Given the description of an element on the screen output the (x, y) to click on. 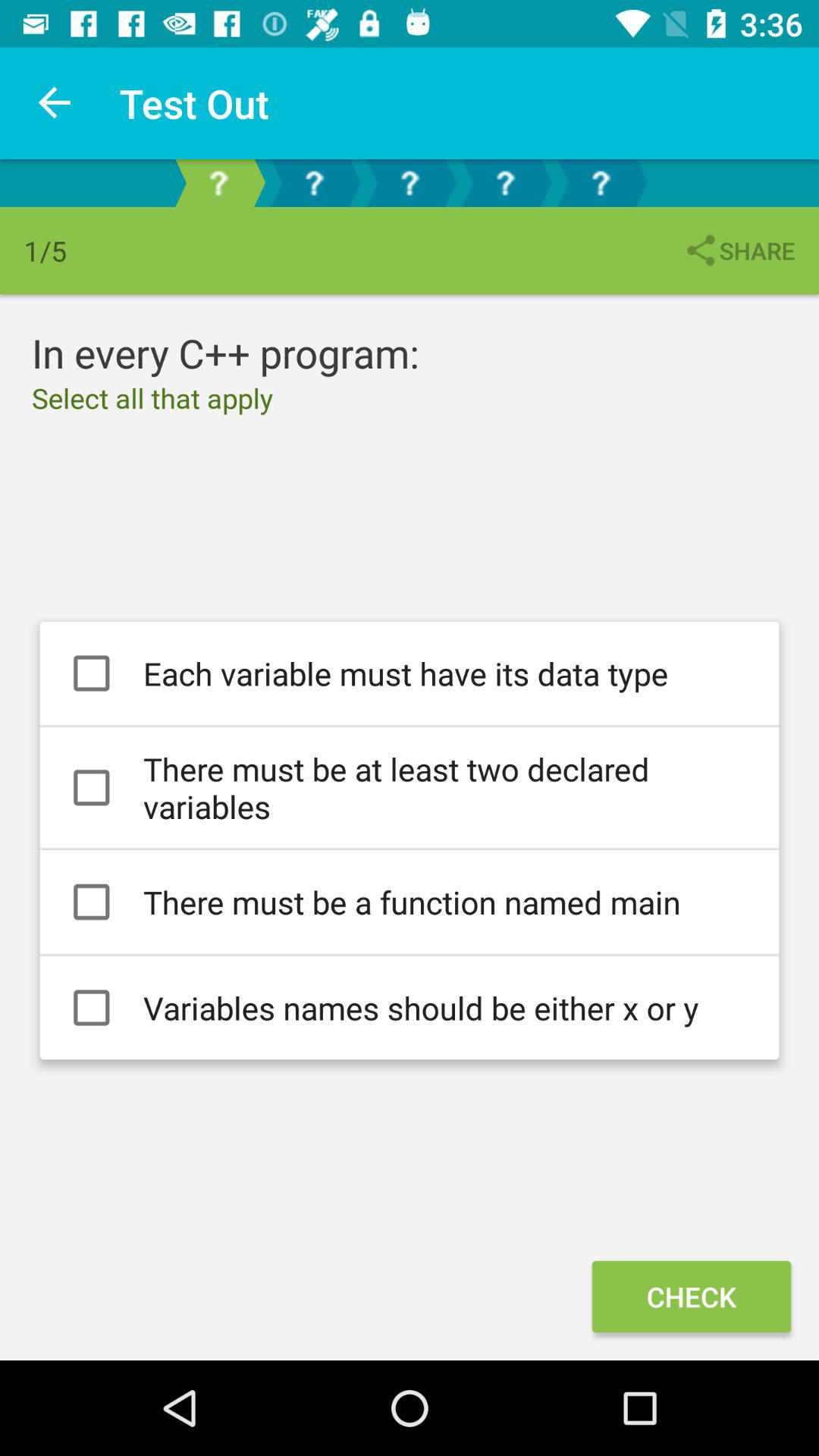
open item above 1/5 icon (55, 103)
